Given the description of an element on the screen output the (x, y) to click on. 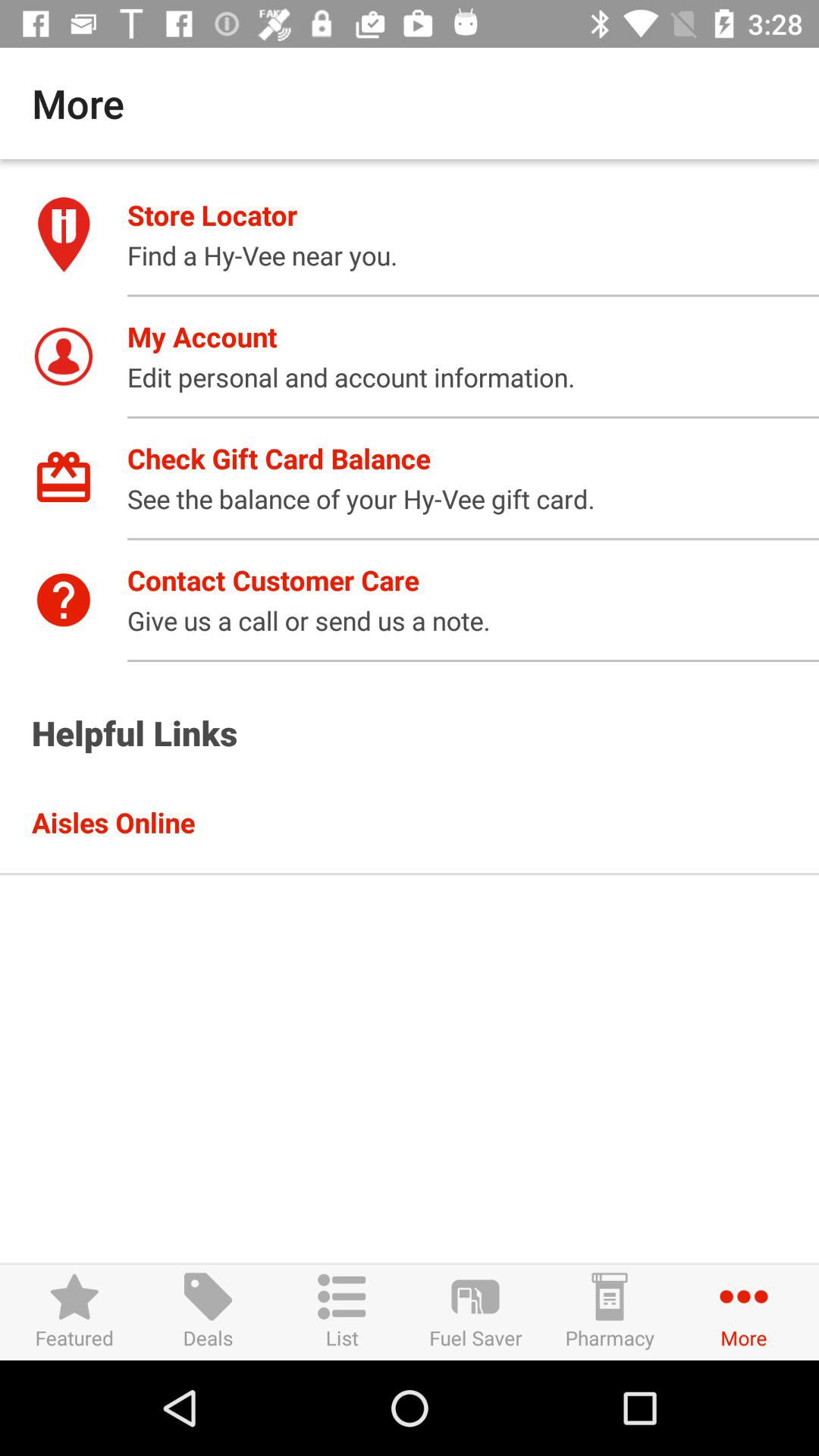
select fuel saver icon (475, 1311)
